Given the description of an element on the screen output the (x, y) to click on. 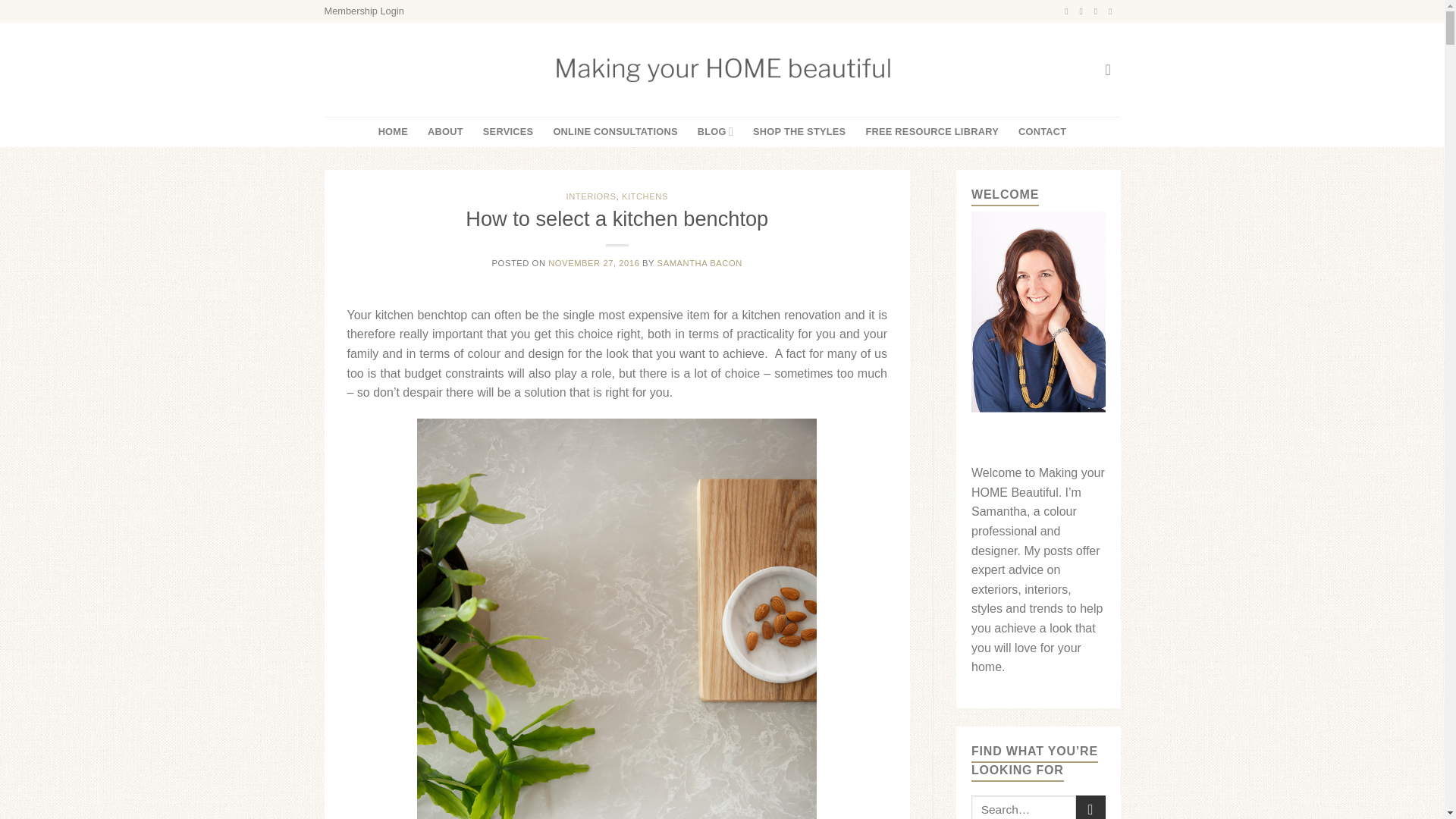
INTERIORS (590, 195)
Making your Home Beautiful (721, 69)
NOVEMBER 27, 2016 (593, 262)
SHOP THE STYLES (798, 131)
SAMANTHA BACON (700, 262)
BLOG (715, 131)
FREE RESOURCE LIBRARY (931, 131)
Membership Login (364, 11)
ONLINE CONSULTATIONS (615, 131)
CONTACT (1041, 131)
ABOUT (445, 131)
KITCHENS (644, 195)
HOME (392, 131)
SERVICES (508, 131)
